Given the description of an element on the screen output the (x, y) to click on. 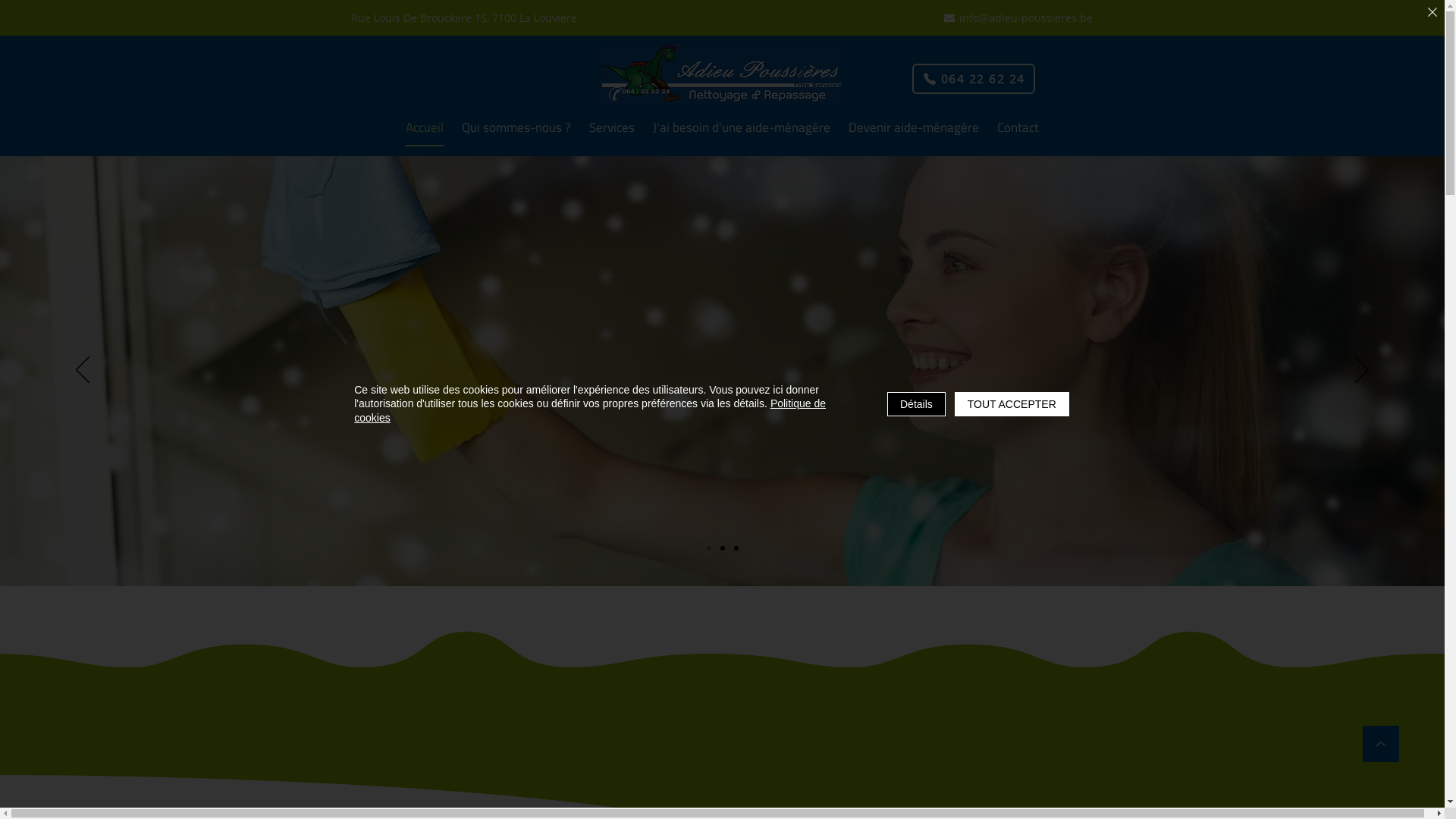
Qui sommes-nous ? Element type: text (516, 128)
064 22 62 24 Element type: text (972, 78)
Accueil Element type: text (424, 127)
TOUT ACCEPTER Element type: text (1011, 403)
Contact Element type: text (1017, 128)
Politique de cookies Element type: text (589, 410)
Services Element type: text (611, 128)
info@adieu-poussieres.be Element type: text (1018, 17)
